Given the description of an element on the screen output the (x, y) to click on. 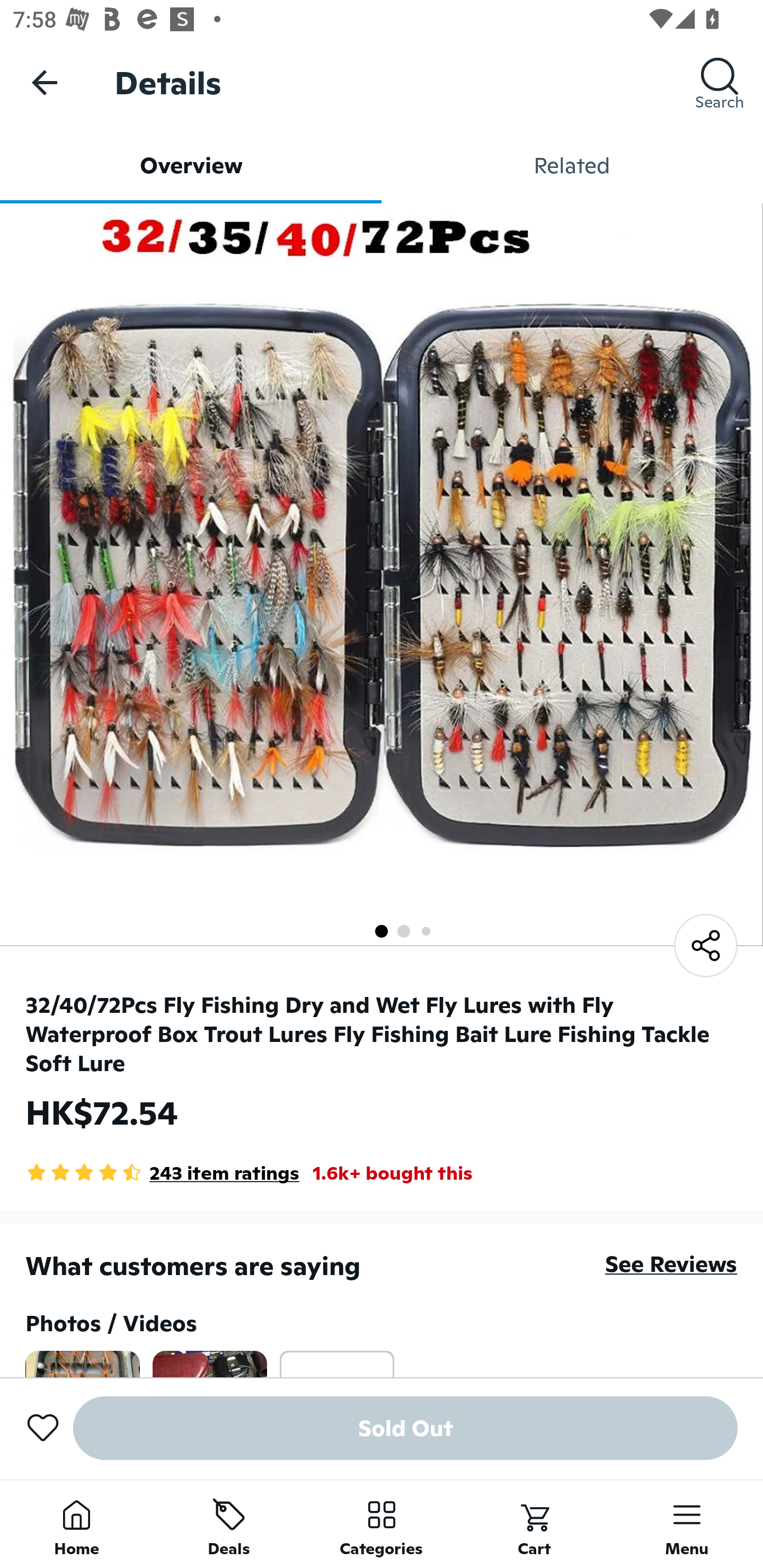
Navigate up (44, 82)
Search (719, 82)
Related (572, 165)
4.3 Star Rating 243 item ratings (162, 1172)
See Reviews (671, 1264)
Sold Out (405, 1428)
Home (76, 1523)
Deals (228, 1523)
Categories (381, 1523)
Cart (533, 1523)
Menu (686, 1523)
